Given the description of an element on the screen output the (x, y) to click on. 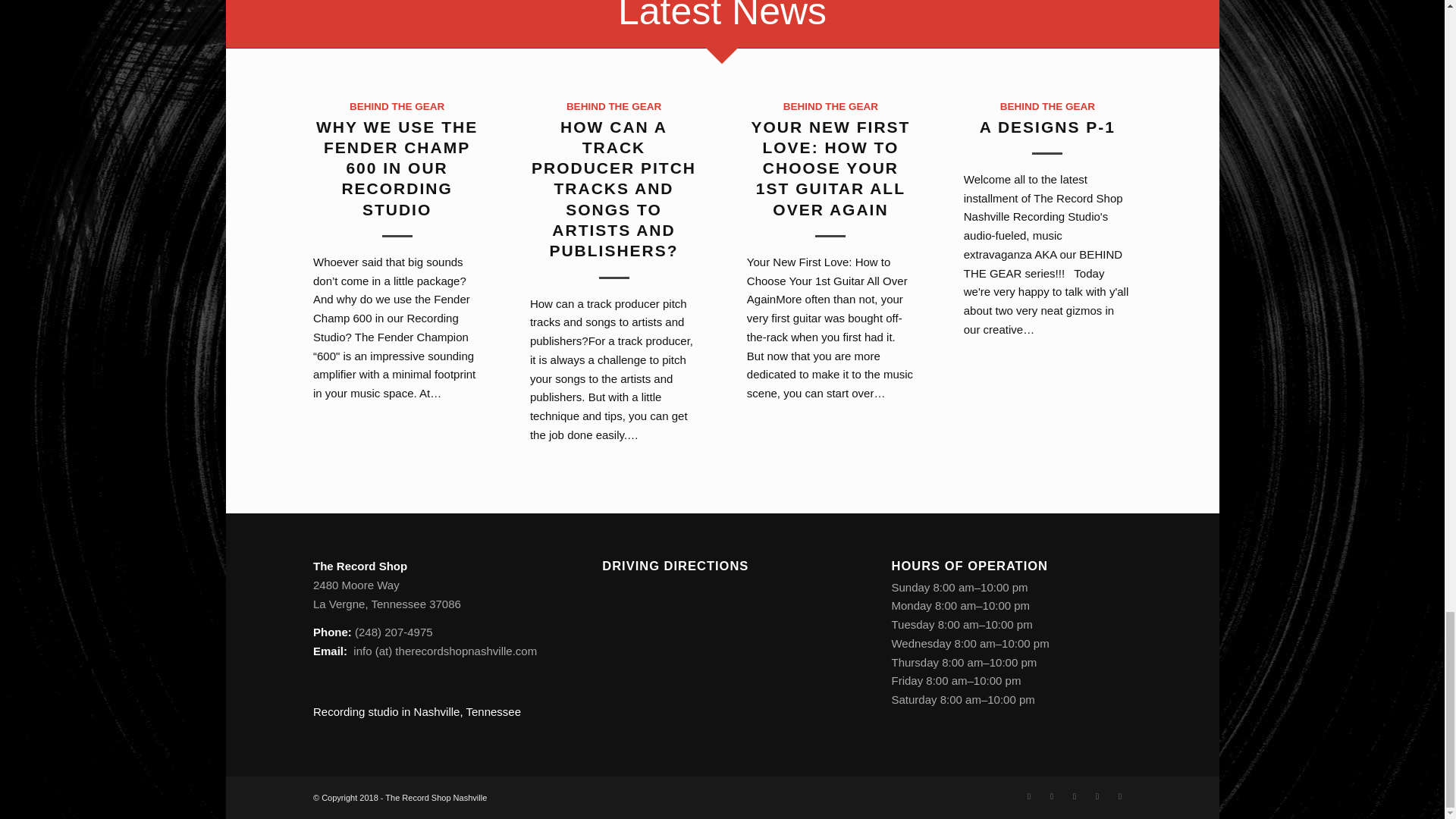
BEHIND THE GEAR (396, 106)
WHY WE USE THE FENDER CHAMP 600 IN OUR RECORDING STUDIO (396, 167)
BEHIND THE GEAR (613, 106)
Why we use the Fender Champ 600 in our Recording Studio (396, 167)
